Given the description of an element on the screen output the (x, y) to click on. 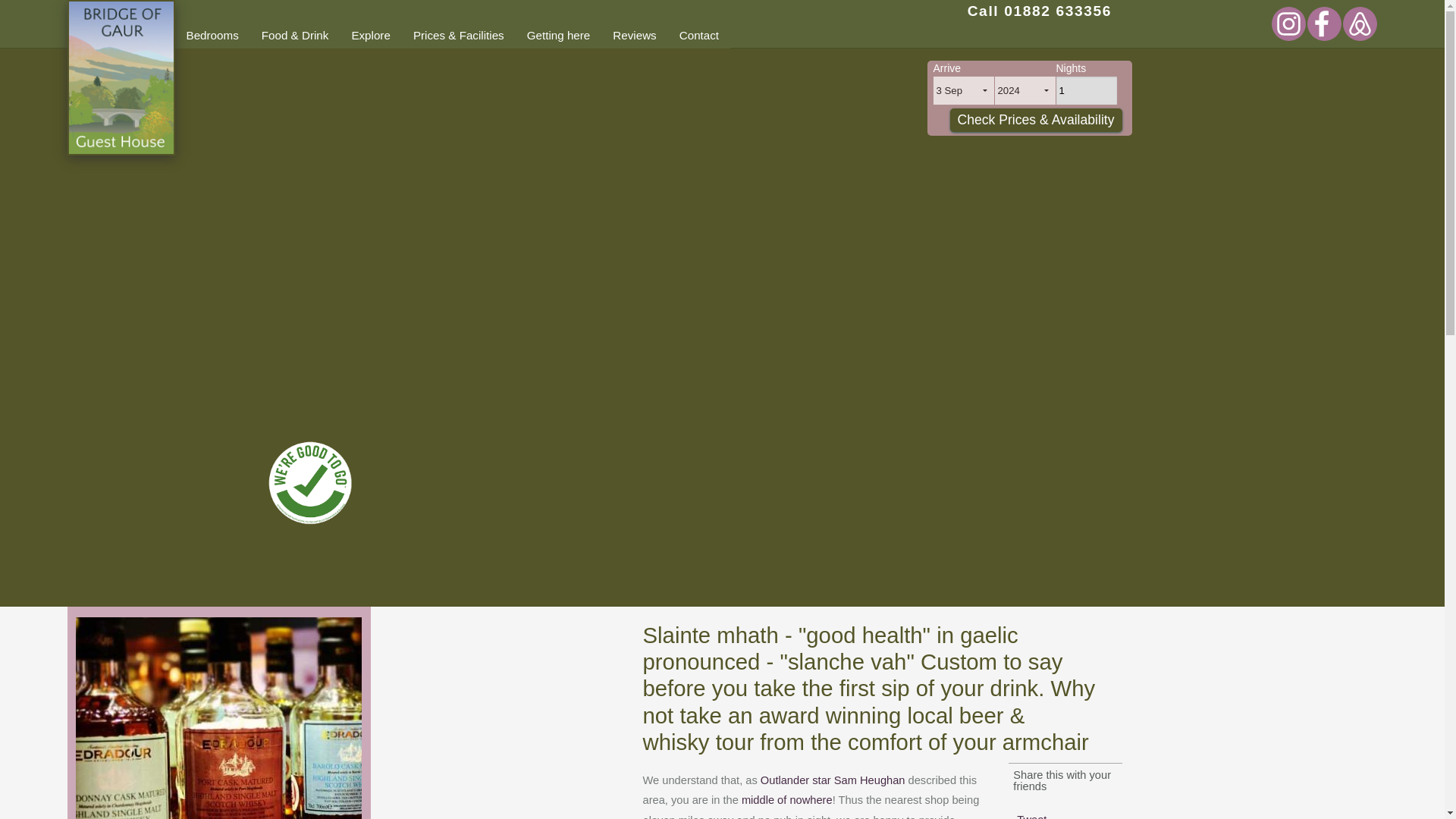
1 (1085, 90)
Bedrooms at Bridge of Gaur Guesthouse accommodation (211, 35)
Tweet (1031, 816)
Explore rannoch Camusericht, Kenachlcher and Gaur (370, 35)
Book on AirBnB (1359, 31)
Reviews (633, 35)
Getting here (558, 35)
Call Bridge Of Gaur Guesthouse Loch Rannoch Scotland (1040, 10)
